Given the description of an element on the screen output the (x, y) to click on. 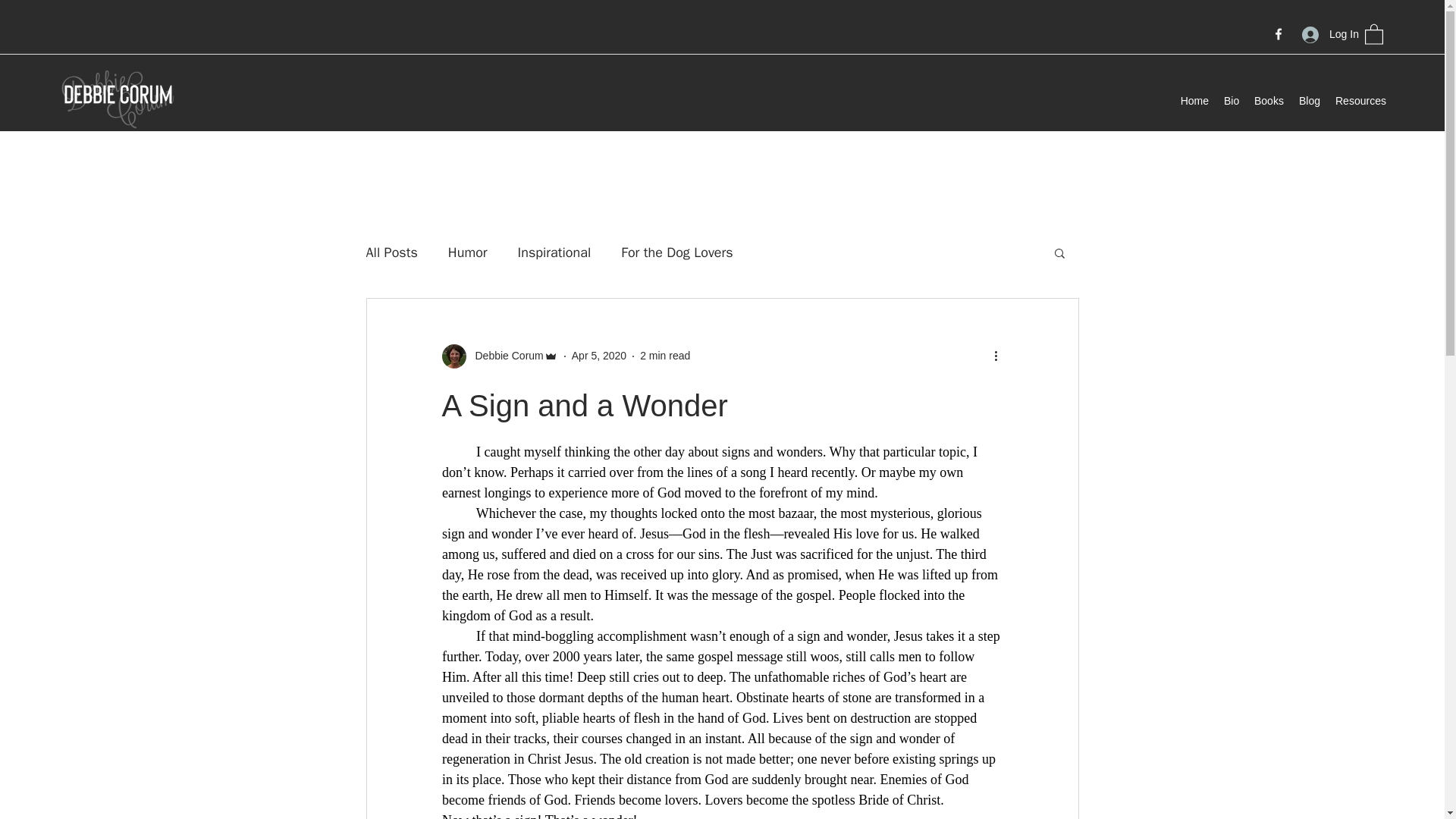
Books (1268, 100)
Inspirational (554, 252)
All Posts (390, 252)
For the Dog Lovers (676, 252)
Debbie Corum (504, 355)
Log In (1325, 34)
Humor (467, 252)
Apr 5, 2020 (599, 355)
Home (1193, 100)
Resources (1359, 100)
Debbie Corum (499, 355)
Bio (1230, 100)
2 min read (665, 355)
Blog (1308, 100)
